Given the description of an element on the screen output the (x, y) to click on. 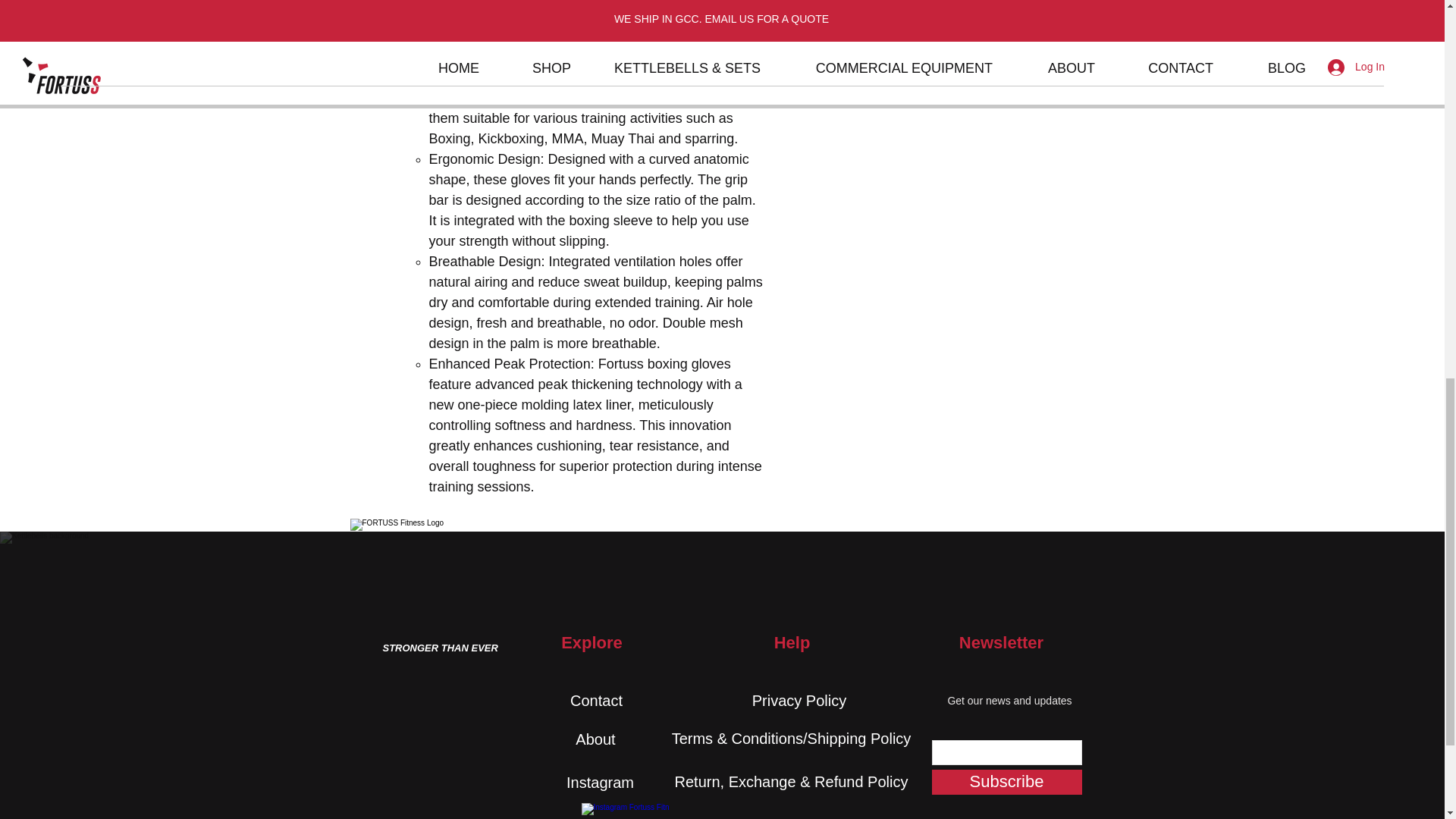
Contact (595, 700)
Subscribe (1006, 781)
Instagram (599, 782)
Privacy Policy (798, 700)
About (595, 739)
